Given the description of an element on the screen output the (x, y) to click on. 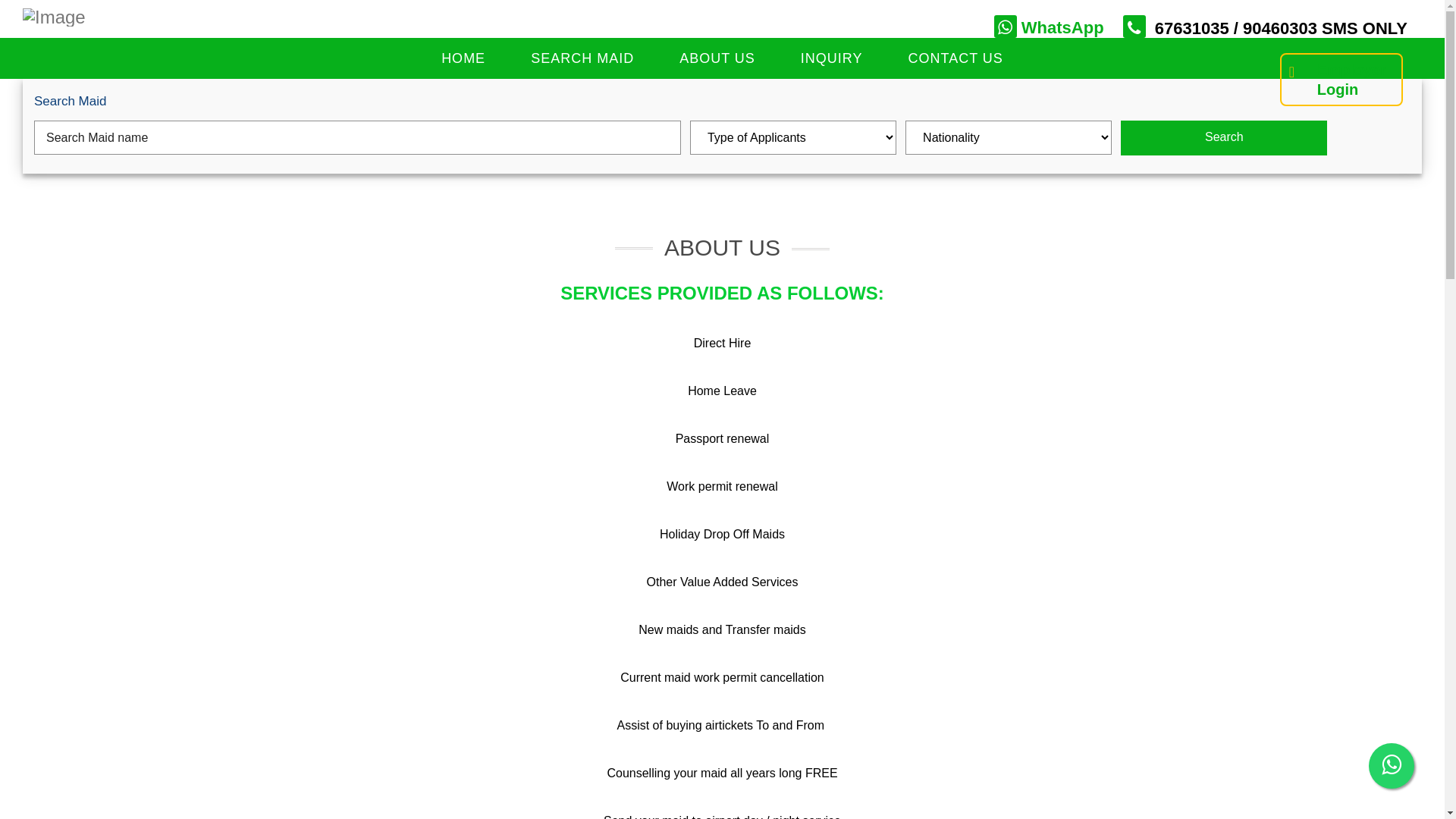
INQUIRY Element type: text (831, 55)
SEARCH MAID Element type: text (582, 55)
WhatsApp Element type: text (1049, 27)
HOME Element type: text (463, 55)
Employer
Login Element type: text (1341, 79)
Search Element type: text (1223, 137)
CONTACT US Element type: text (955, 55)
ABOUT US Element type: text (717, 55)
